Given the description of an element on the screen output the (x, y) to click on. 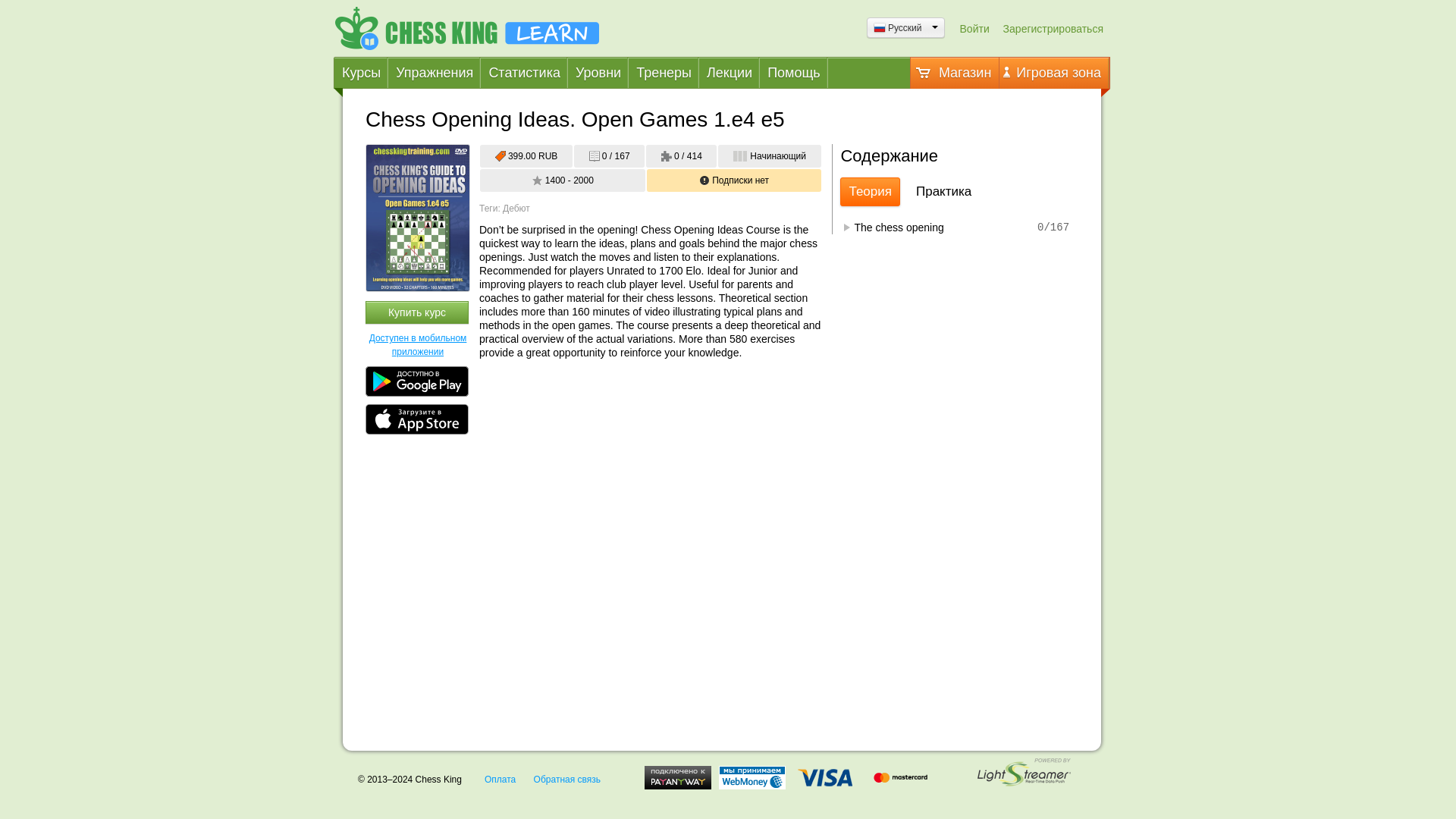
Chess King Learn (466, 27)
The chess opening (927, 227)
Chess Opening Ideas. Open Games 1.e4 e5 (417, 217)
